Given the description of an element on the screen output the (x, y) to click on. 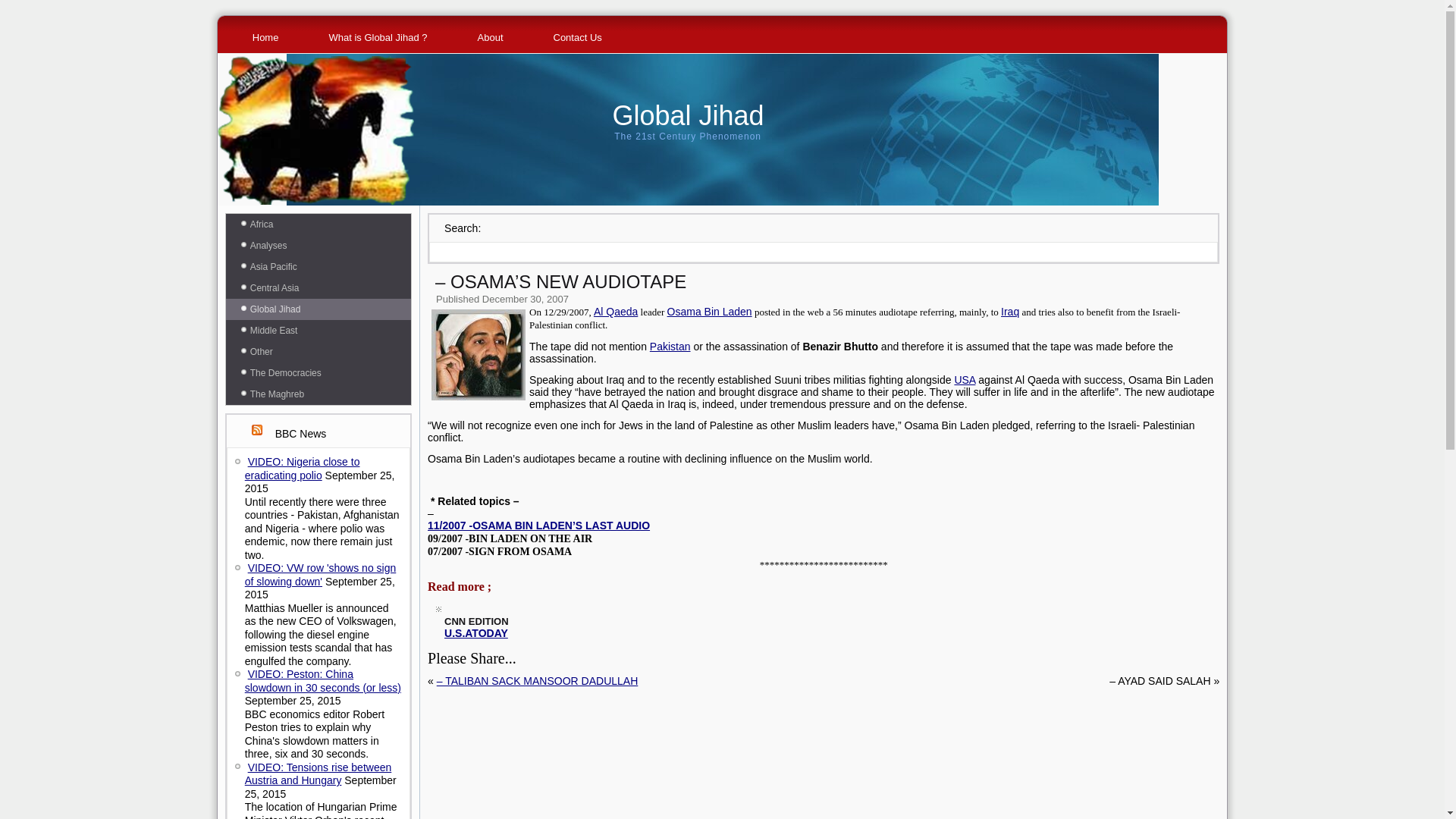
About (489, 37)
Asia Pacific (317, 266)
Global Jihad (686, 115)
Global Jihad (317, 309)
Contact Us (577, 37)
What is Global Jihad ? (377, 37)
Home (265, 37)
Africa (317, 224)
Analyses (317, 245)
View all posts in Analyses (317, 245)
Contact Us (577, 37)
What is Global Jihad ? (377, 37)
Home (265, 37)
View all posts in Africa (317, 224)
About (489, 37)
